Given the description of an element on the screen output the (x, y) to click on. 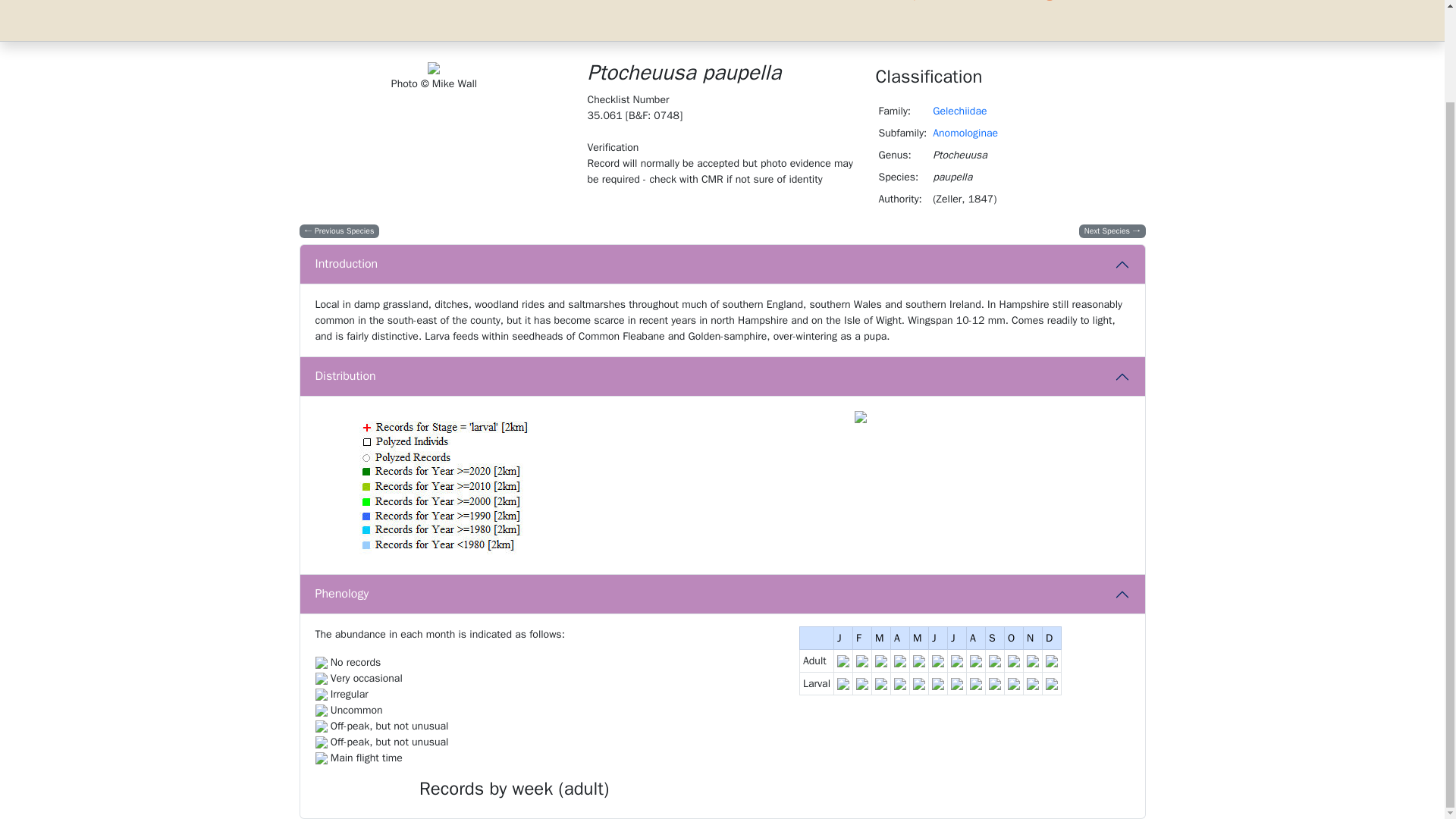
Gelechiidae (960, 110)
Introduction (721, 264)
Distribution (721, 376)
Anomologinae (965, 132)
Phenology (721, 594)
